Given the description of an element on the screen output the (x, y) to click on. 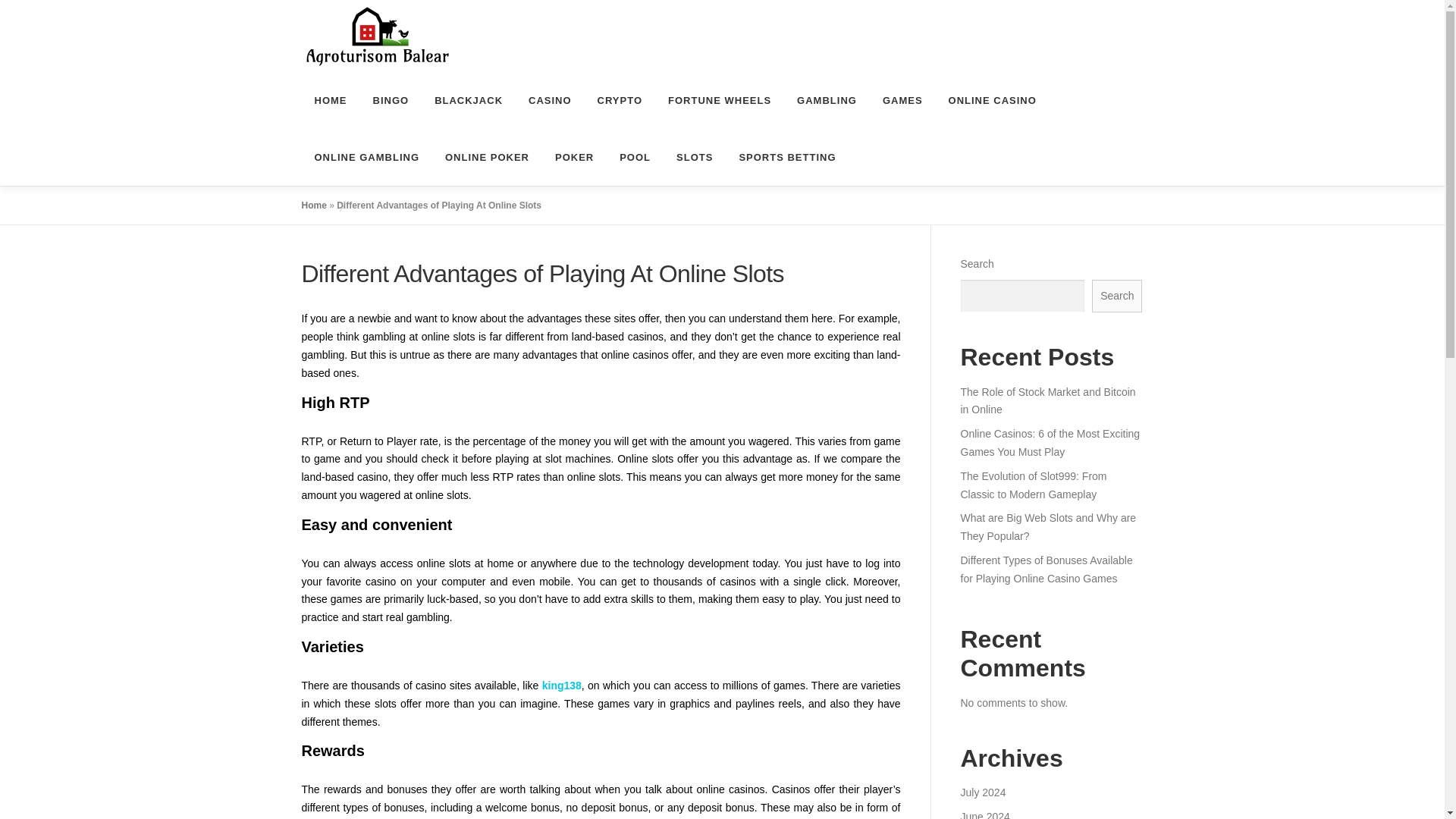
CRYPTO (620, 100)
CASINO (550, 100)
ONLINE POKER (486, 156)
FORTUNE WHEELS (719, 100)
The Role of Stock Market and Bitcoin in Online (1047, 400)
SPORTS BETTING (780, 156)
BINGO (390, 100)
POOL (635, 156)
Home (313, 204)
Search (1116, 296)
SLOTS (694, 156)
ONLINE GAMBLING (366, 156)
king138 (560, 685)
BLACKJACK (468, 100)
